Given the description of an element on the screen output the (x, y) to click on. 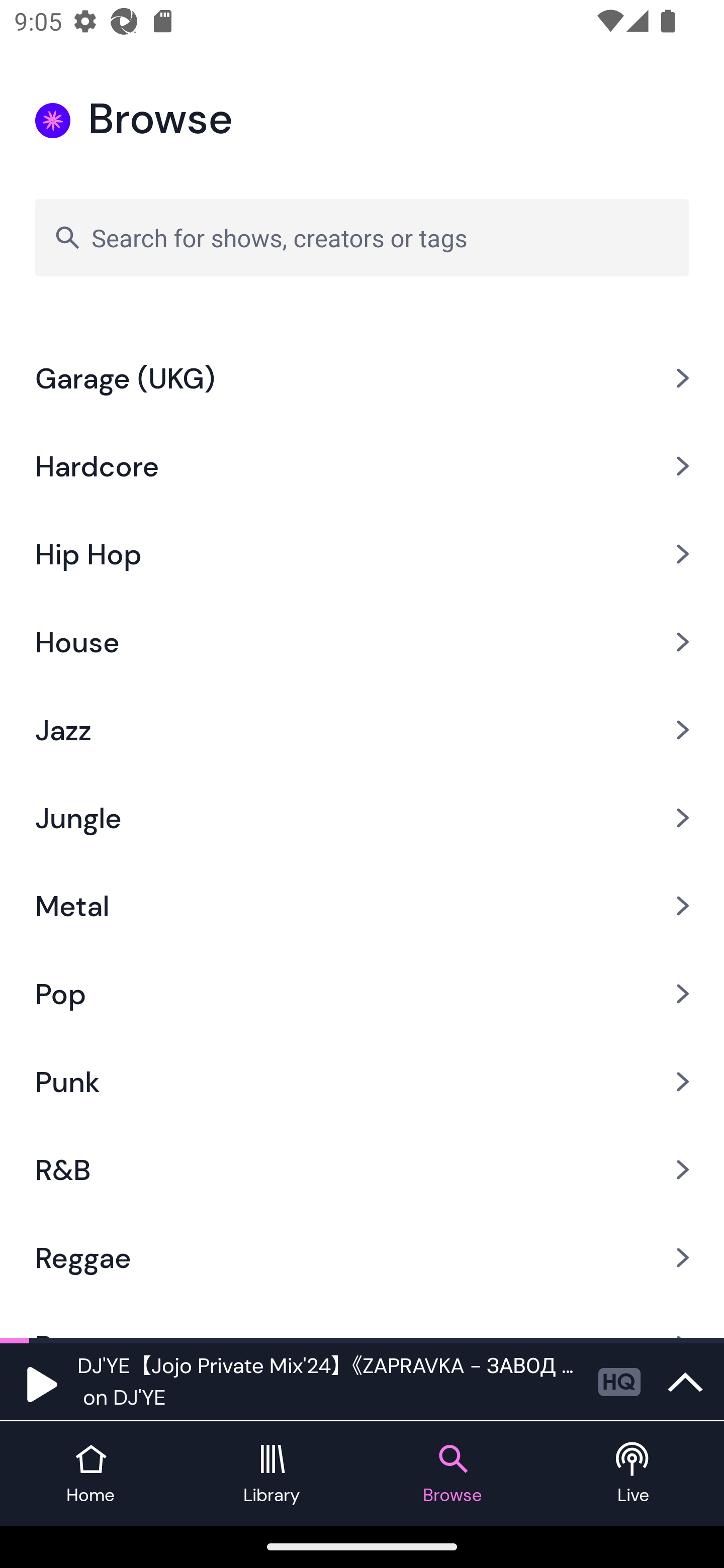
Search for shows, creators or tags (361, 237)
Funk (361, 317)
Garage (UKG) (361, 377)
Hardcore (361, 465)
Hip Hop (361, 553)
House (361, 641)
Jazz (361, 730)
Jungle (361, 818)
Metal (361, 906)
Pop (361, 994)
Punk (361, 1081)
R&B (361, 1169)
Reggae (361, 1257)
Home tab Home (90, 1473)
Library tab Library (271, 1473)
Browse tab Browse (452, 1473)
Live tab Live (633, 1473)
